Given the description of an element on the screen output the (x, y) to click on. 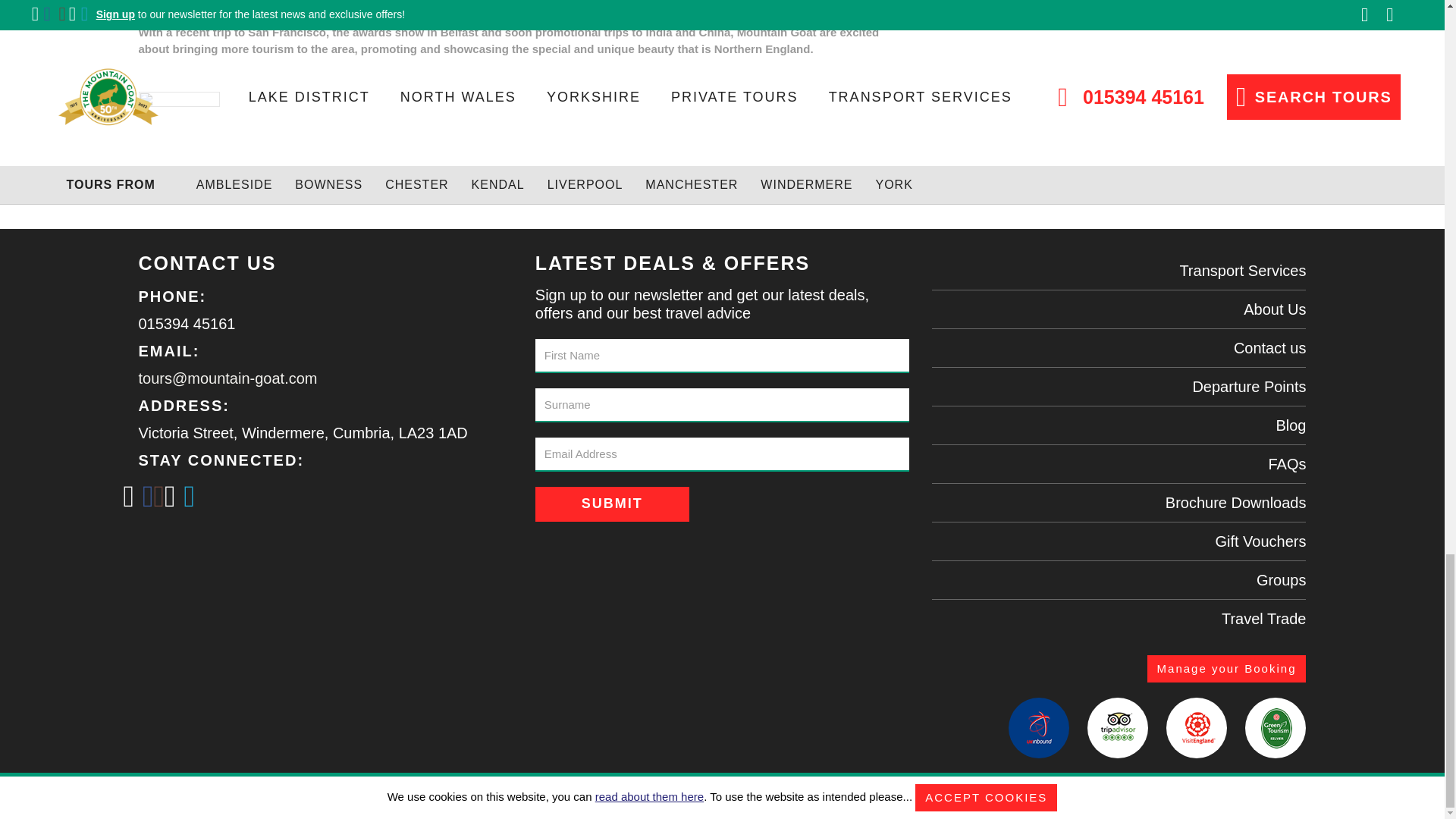
Submit (611, 503)
